Given the description of an element on the screen output the (x, y) to click on. 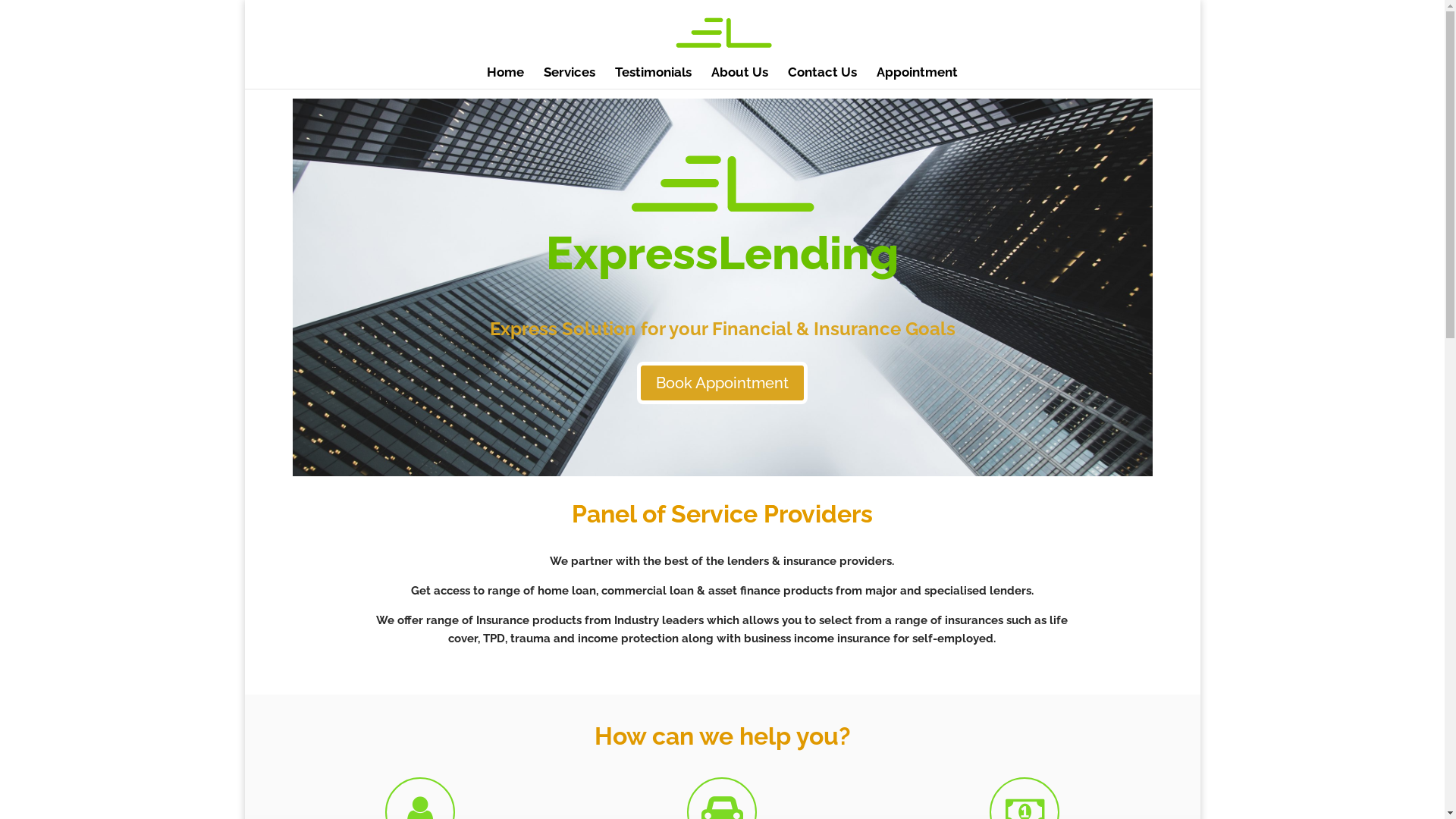
Home Element type: text (505, 77)
Book Appointment Element type: text (722, 382)
About Us Element type: text (739, 77)
Contact Us Element type: text (821, 77)
Appointment Element type: text (916, 77)
Services Element type: text (569, 77)
Testimonials Element type: text (653, 77)
